Given the description of an element on the screen output the (x, y) to click on. 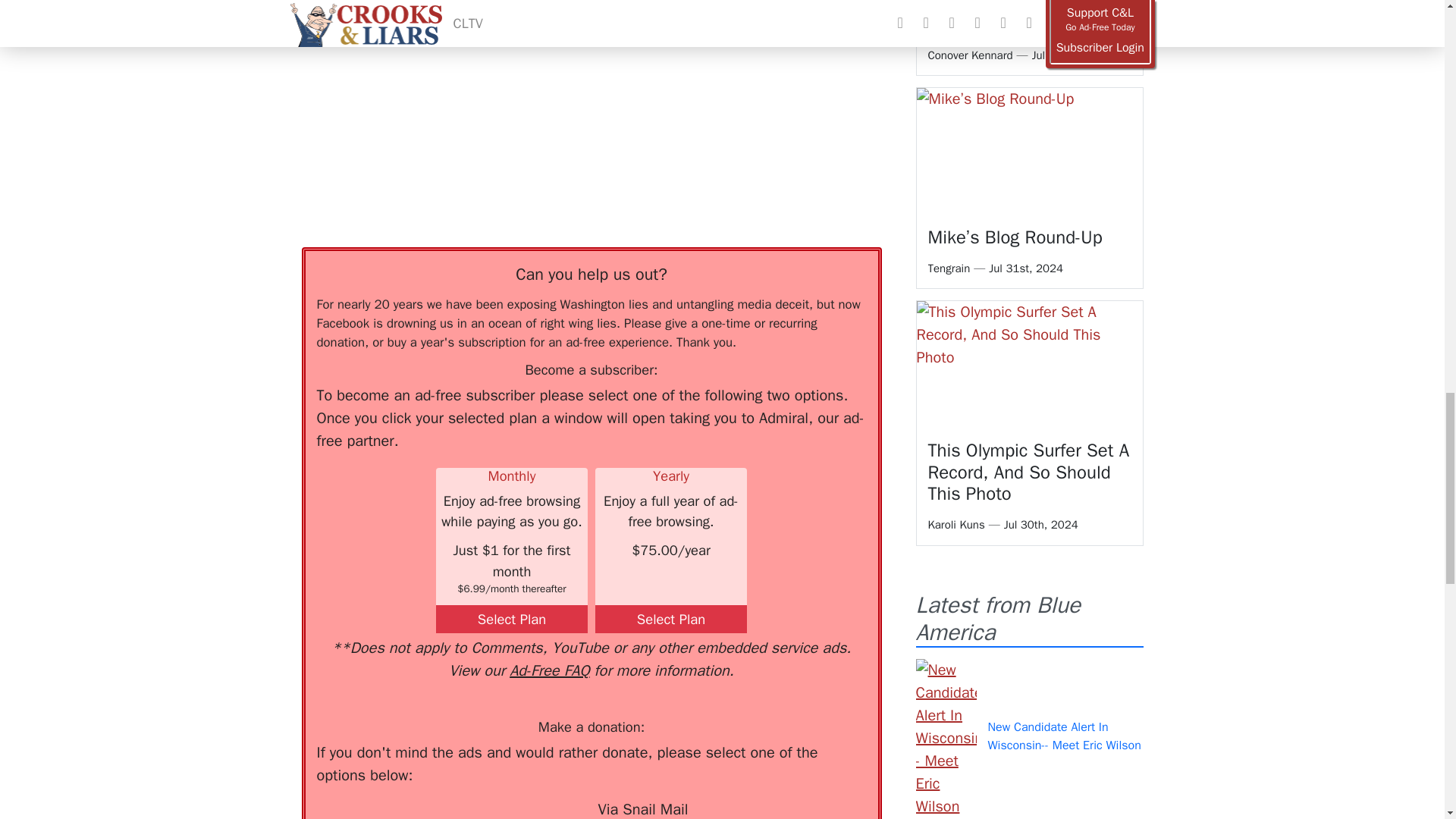
Donate via Kindest (438, 808)
Ad-Free FAQ (549, 670)
Kindest (438, 808)
Donate via PayPal (540, 808)
Donate via PayPal (540, 808)
